Given the description of an element on the screen output the (x, y) to click on. 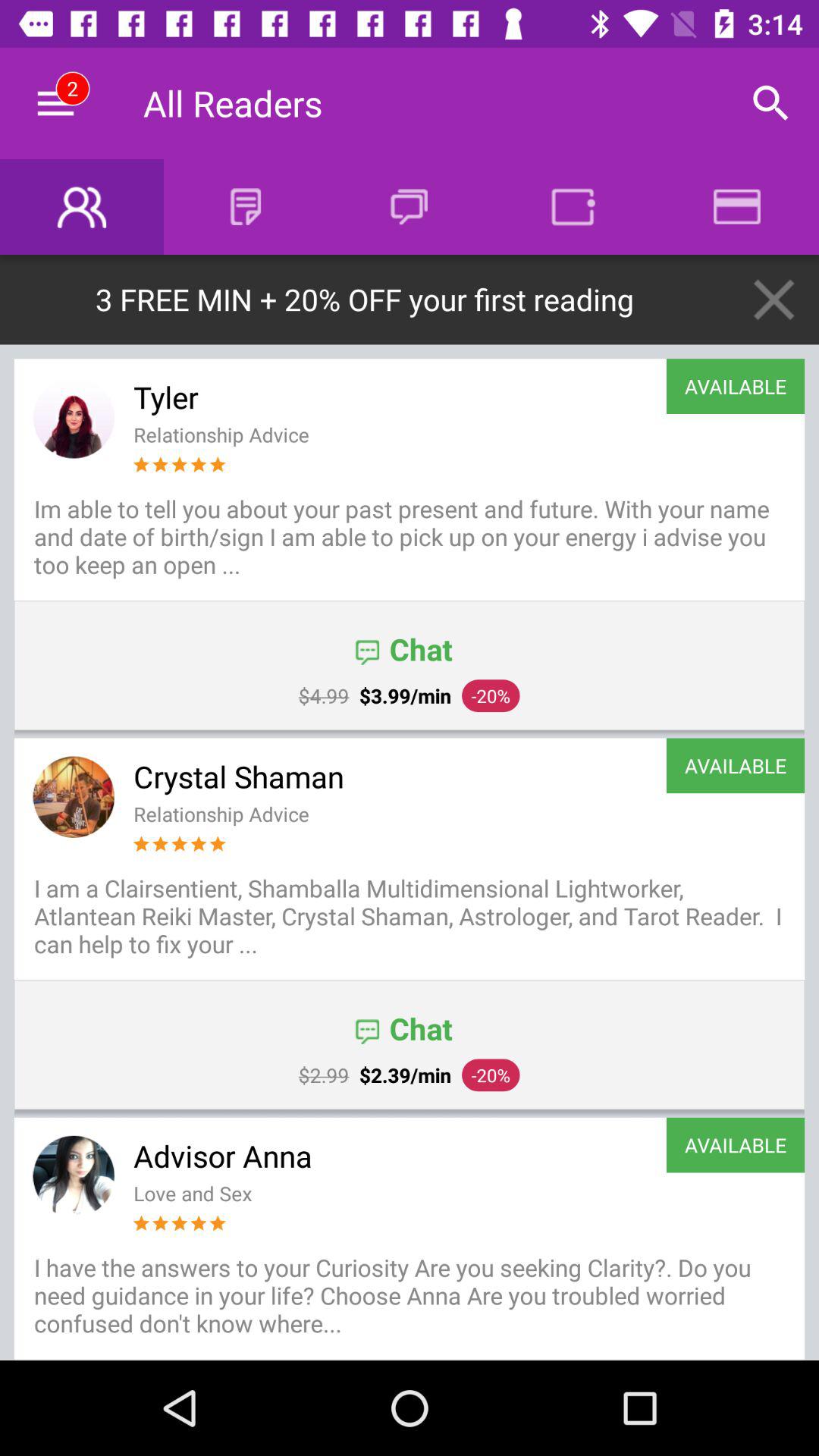
turn on the icon above the available item (774, 299)
